Given the description of an element on the screen output the (x, y) to click on. 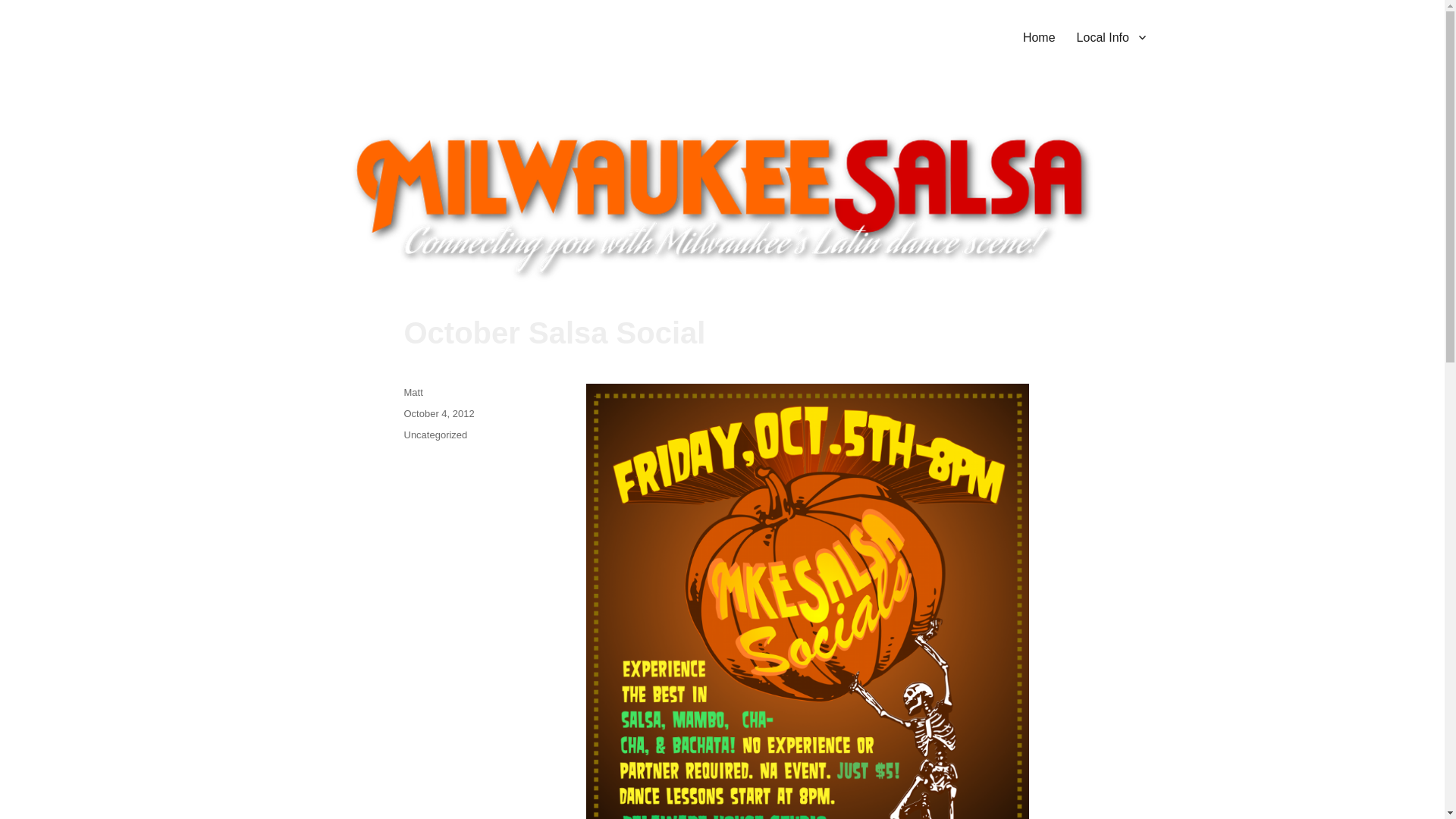
Uncategorized (435, 434)
Home (1038, 37)
Milwaukee Salsa (381, 33)
October 4, 2012 (438, 413)
Matt (412, 392)
Local Info (1110, 37)
